Given the description of an element on the screen output the (x, y) to click on. 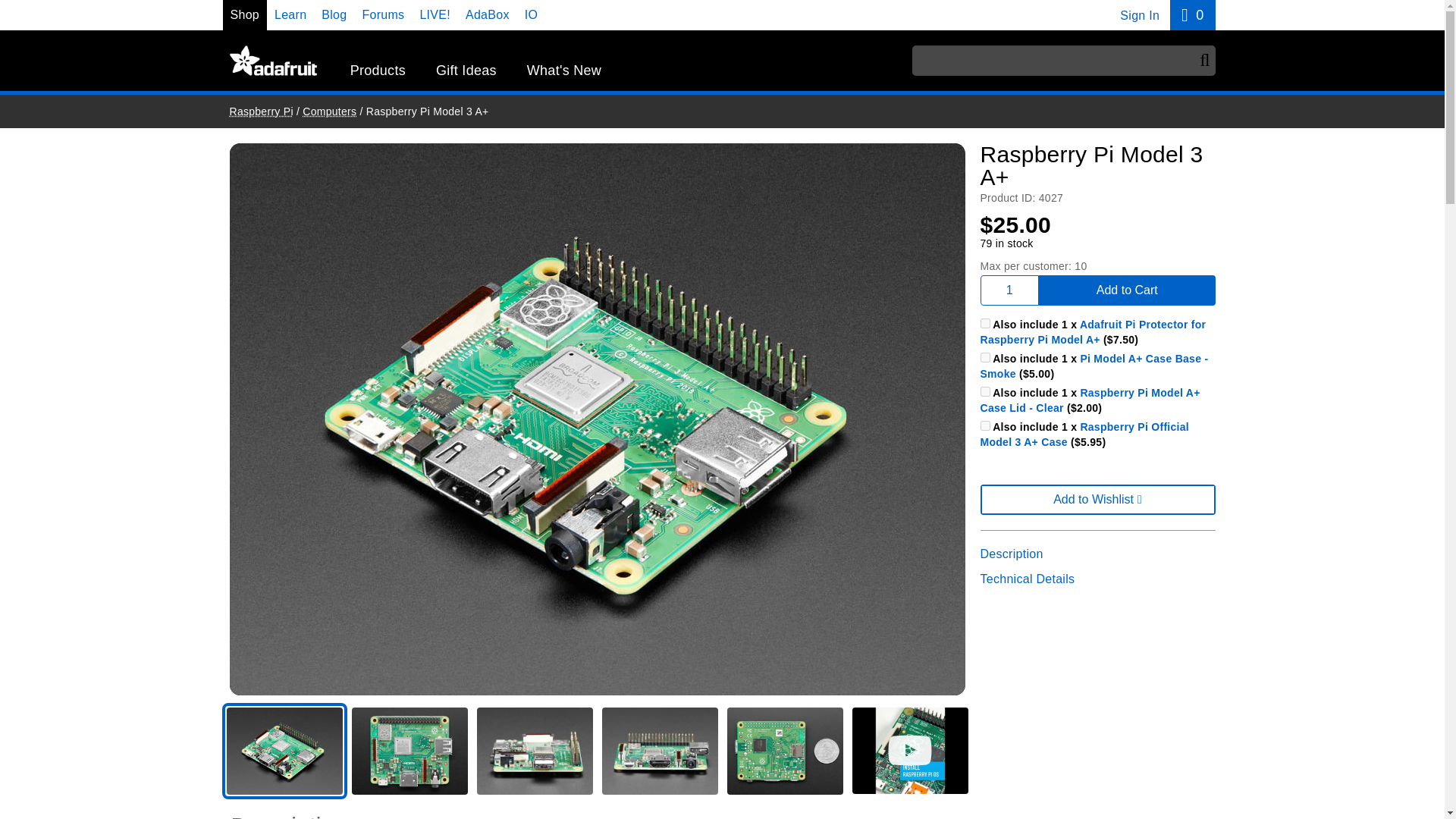
IO (530, 14)
1 (984, 391)
Shop (1192, 14)
AdaBox (245, 14)
1 (487, 14)
LIVE! (984, 357)
Products (434, 14)
Learn (378, 71)
1 (290, 14)
